Given the description of an element on the screen output the (x, y) to click on. 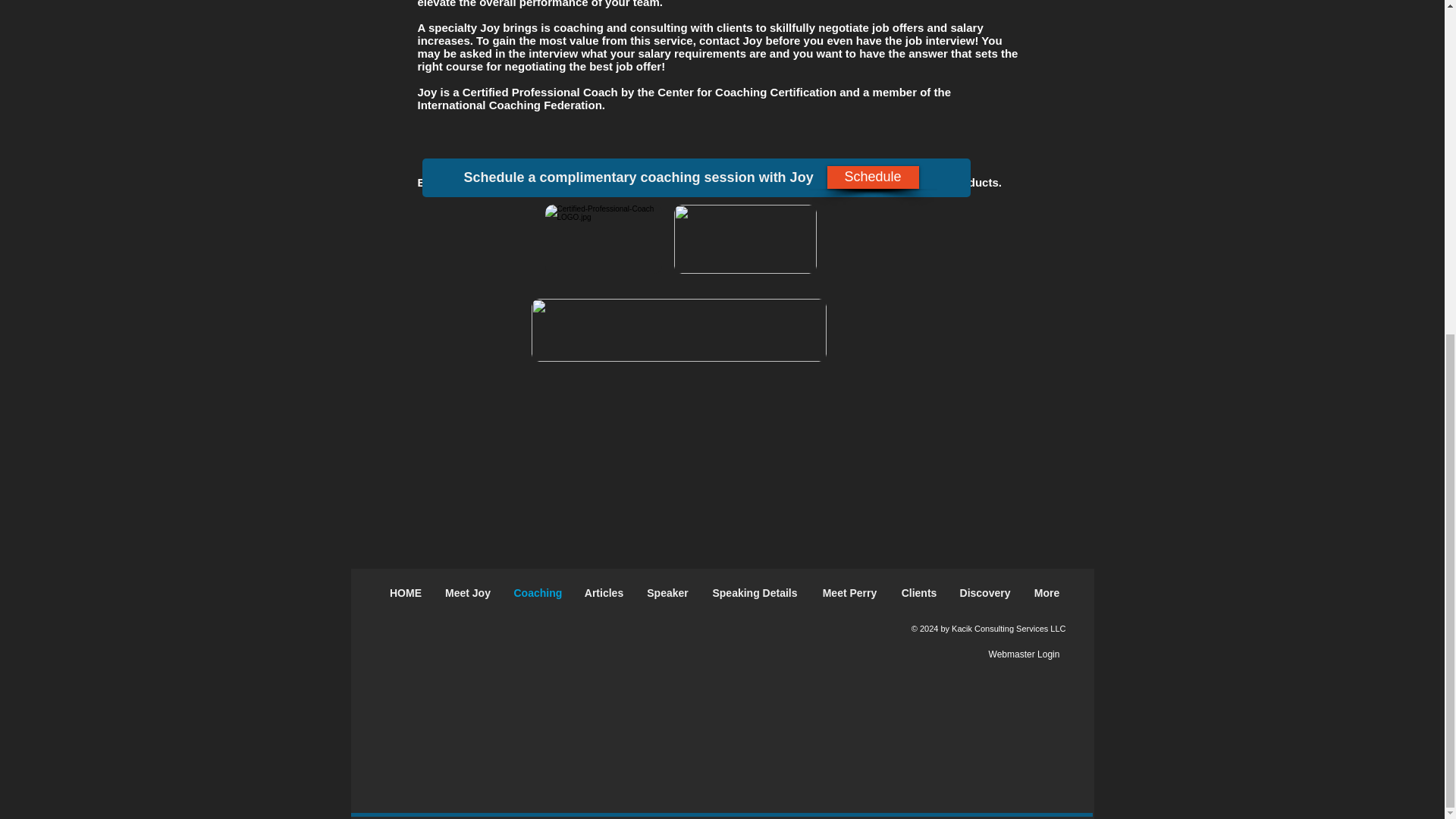
Meet Perry (849, 593)
Coaching (537, 593)
Speaker (667, 593)
HOME (404, 593)
Speaking Details (754, 593)
Meet Joy (467, 593)
Webmaster Login (1023, 653)
Schedule (872, 177)
Clients (919, 593)
Articles (603, 593)
